Given the description of an element on the screen output the (x, y) to click on. 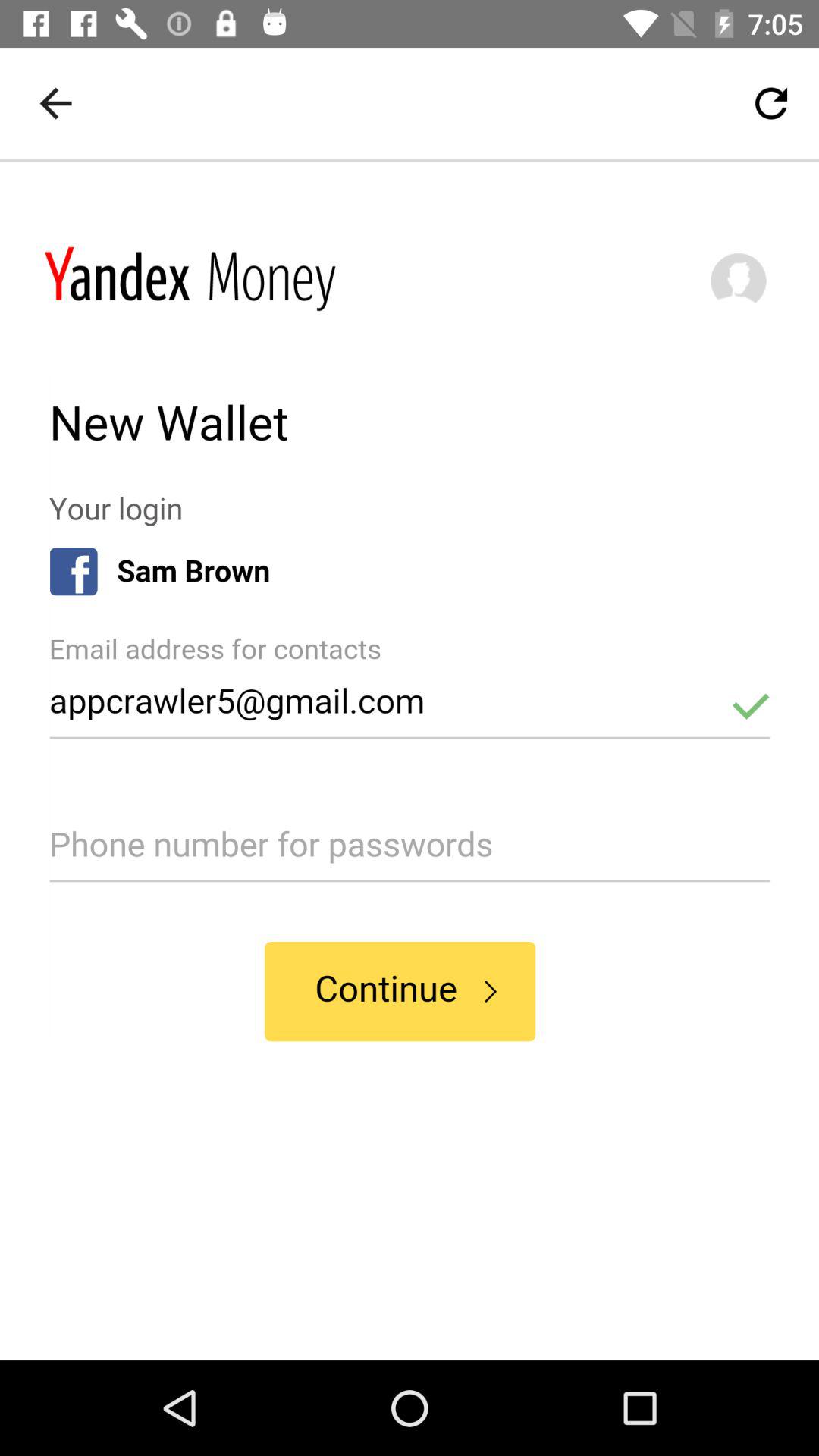
for advertisement (409, 760)
